Given the description of an element on the screen output the (x, y) to click on. 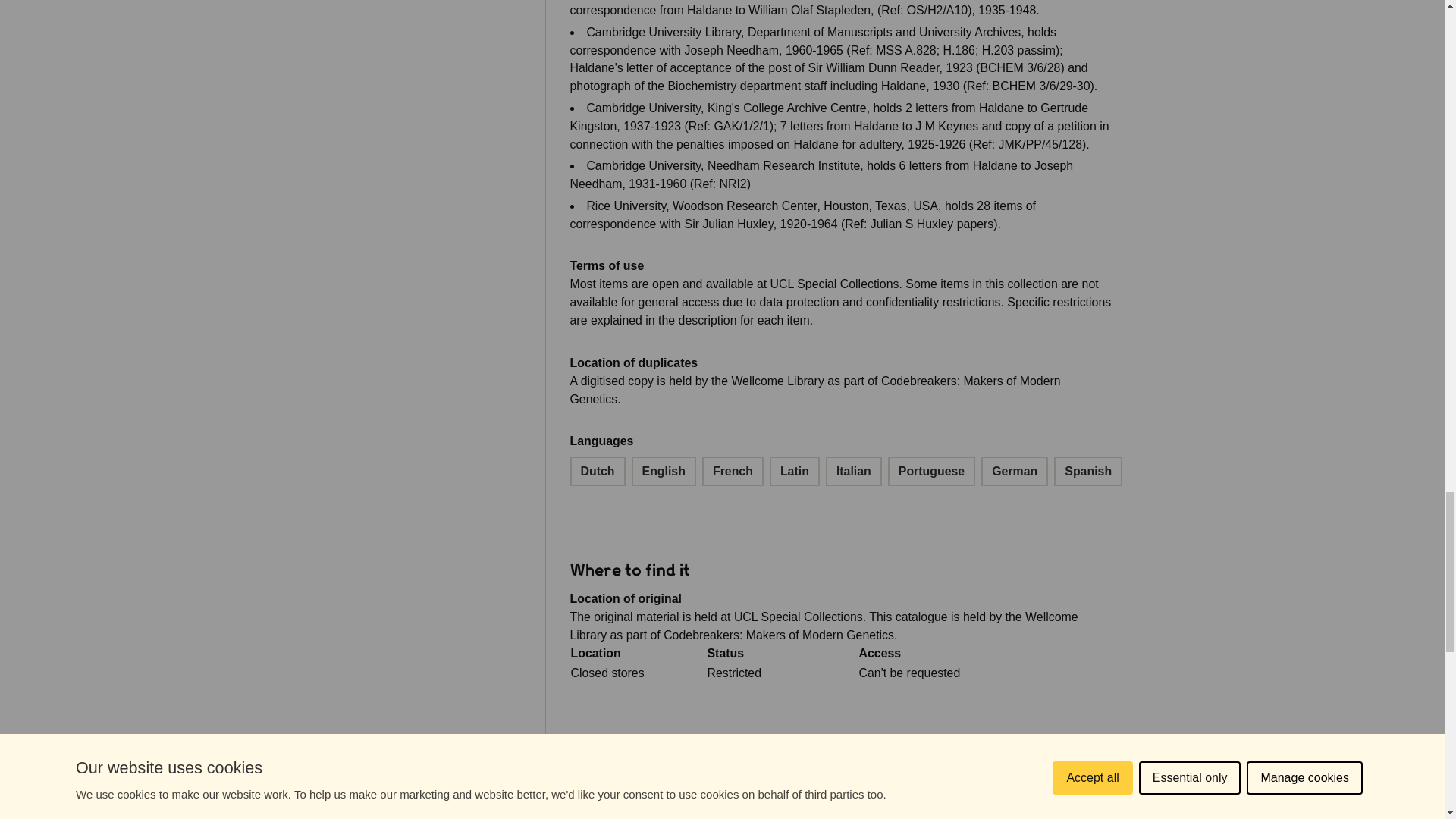
English (663, 471)
Dutch (598, 471)
Spanish (1088, 471)
Portuguese (931, 471)
Latin (794, 471)
French (731, 471)
Italian (853, 471)
German (1014, 471)
